Given the description of an element on the screen output the (x, y) to click on. 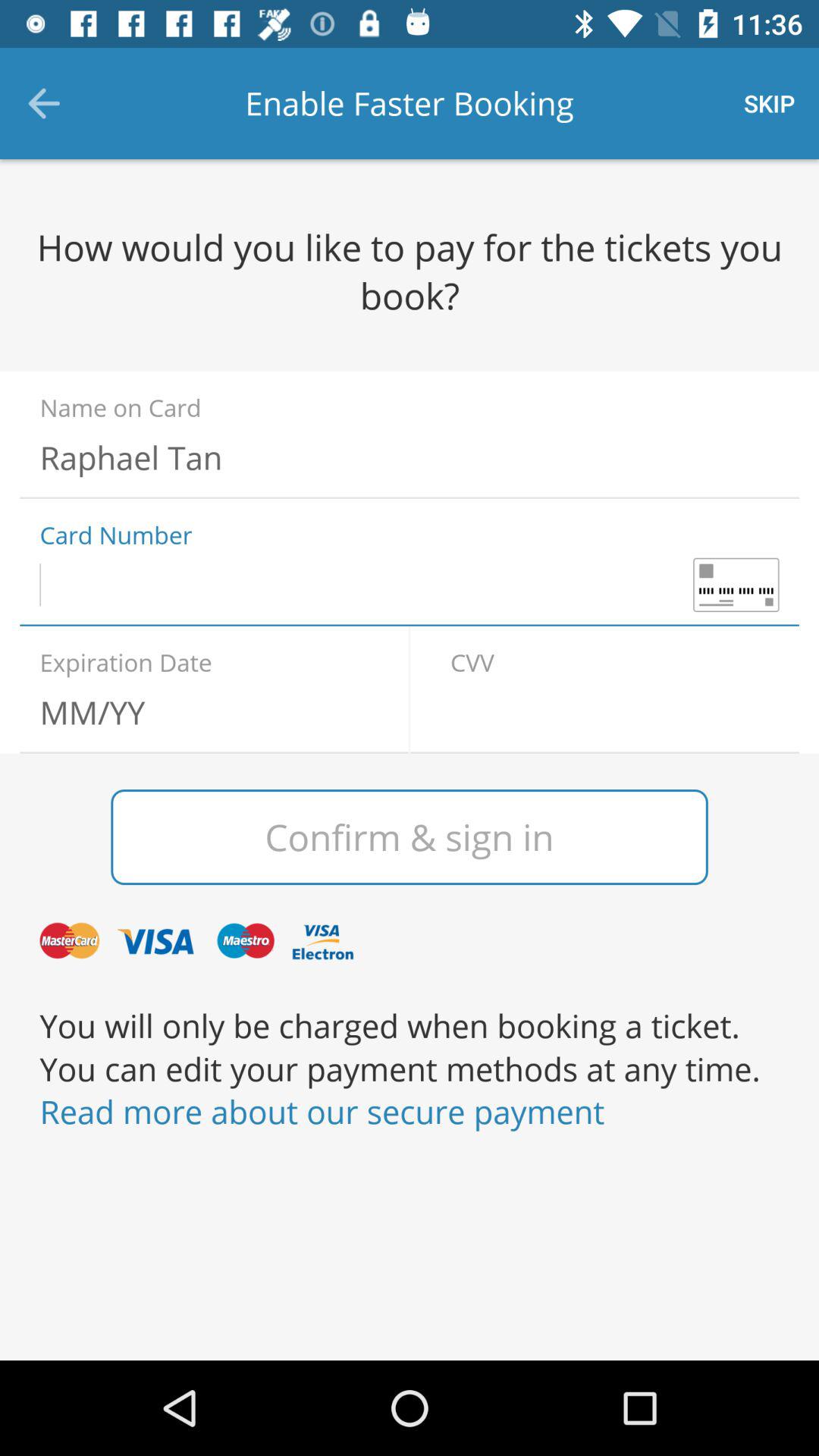
enter cw number (614, 712)
